Given the description of an element on the screen output the (x, y) to click on. 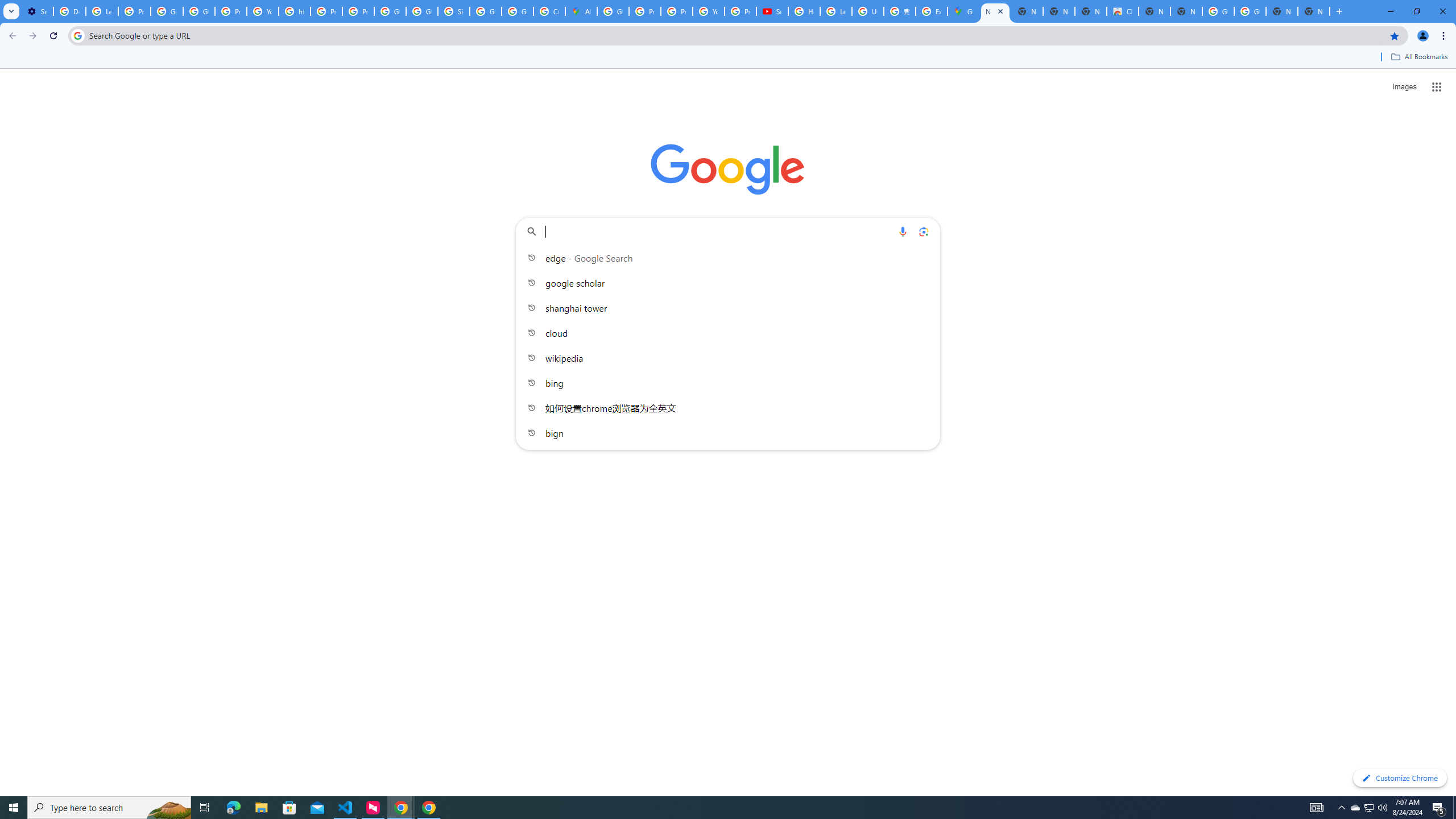
How Chrome protects your passwords - Google Chrome Help (804, 11)
New Tab (1313, 11)
Privacy Help Center - Policies Help (326, 11)
Explore new street-level details - Google Maps Help (931, 11)
All Bookmarks (1418, 56)
Google Account Help (198, 11)
Customize Chrome (1399, 778)
https://scholar.google.com/ (294, 11)
Search by image (922, 230)
